Given the description of an element on the screen output the (x, y) to click on. 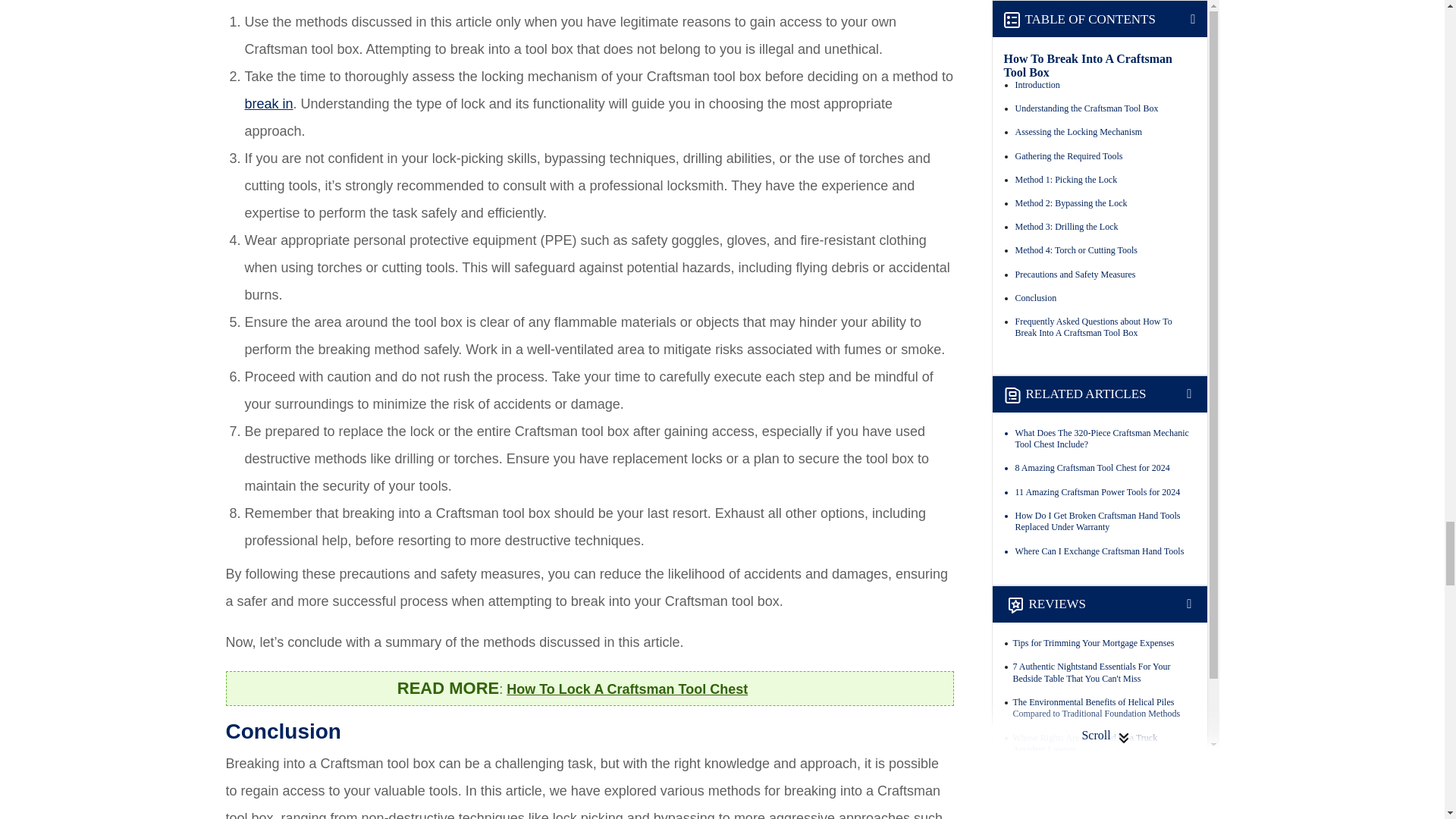
break in (268, 103)
